Given the description of an element on the screen output the (x, y) to click on. 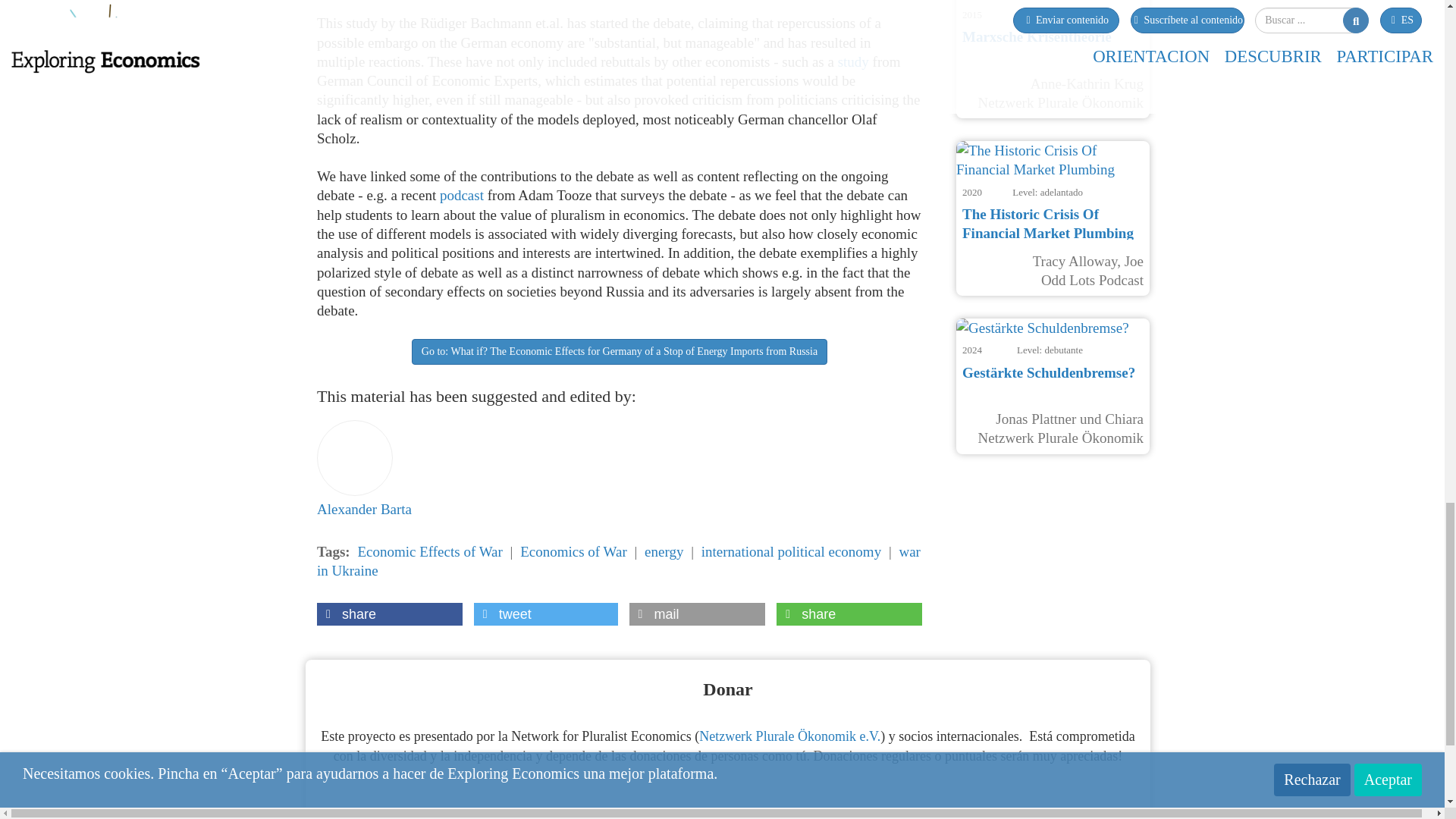
study (855, 61)
podcast (463, 195)
Send by email (696, 613)
Economics of War (573, 551)
Share on Whatsapp (848, 613)
Share on Facebook (390, 613)
Alexander Barta (364, 465)
Share on Twitter (545, 613)
Economic Effects of War (429, 551)
